Given the description of an element on the screen output the (x, y) to click on. 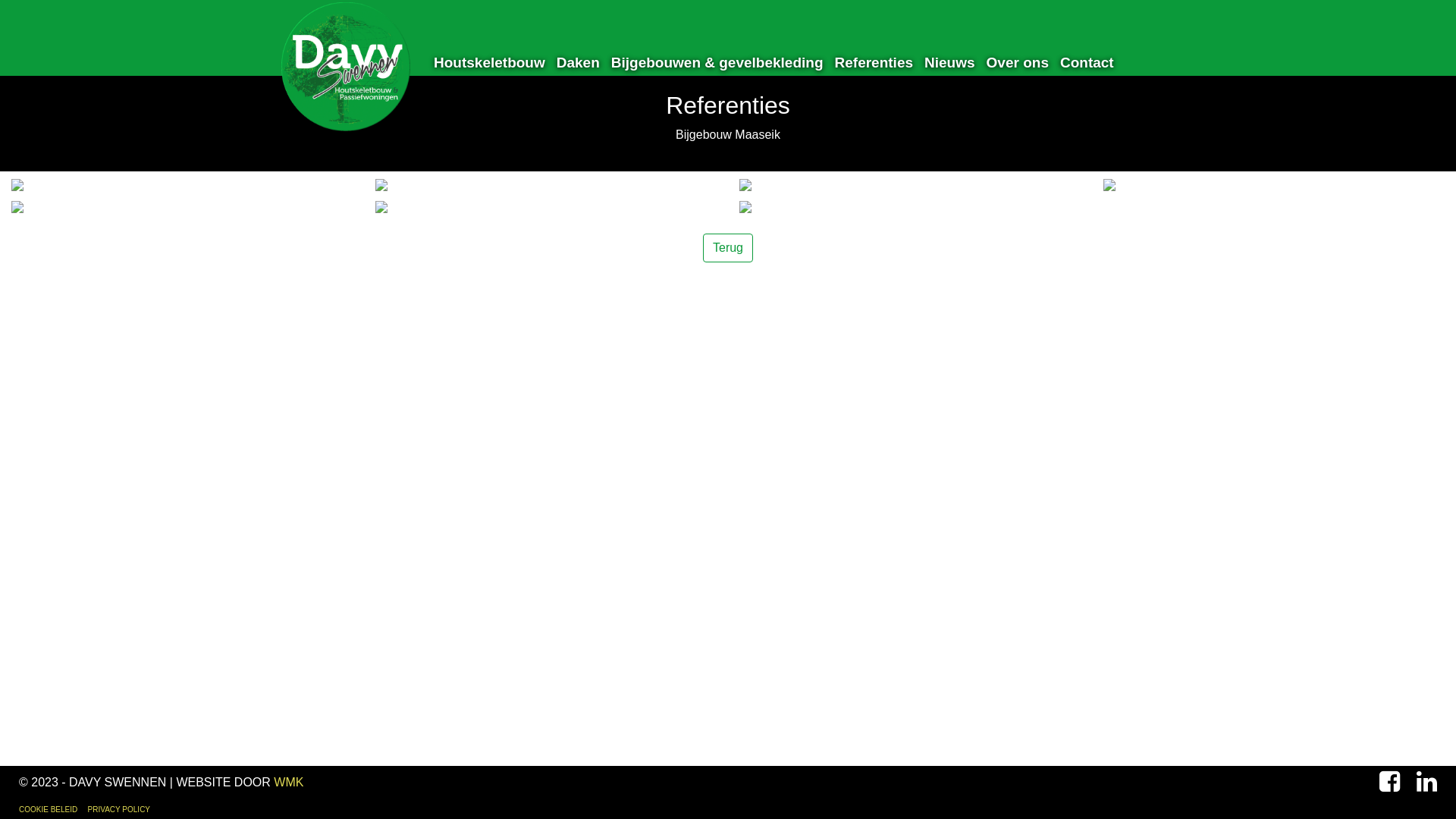
PRIVACY POLICY Element type: text (118, 809)
Contact Element type: text (1080, 62)
Referenties Element type: text (868, 62)
Bijgebouwen & gevelbekleding Element type: text (711, 62)
COOKIE BELEID Element type: text (47, 809)
Nieuws Element type: text (944, 62)
Houtskeletbouw Element type: text (483, 62)
Daken Element type: text (572, 62)
WMK Element type: text (288, 781)
Terug Element type: text (727, 247)
Over ons Element type: text (1011, 62)
